Given the description of an element on the screen output the (x, y) to click on. 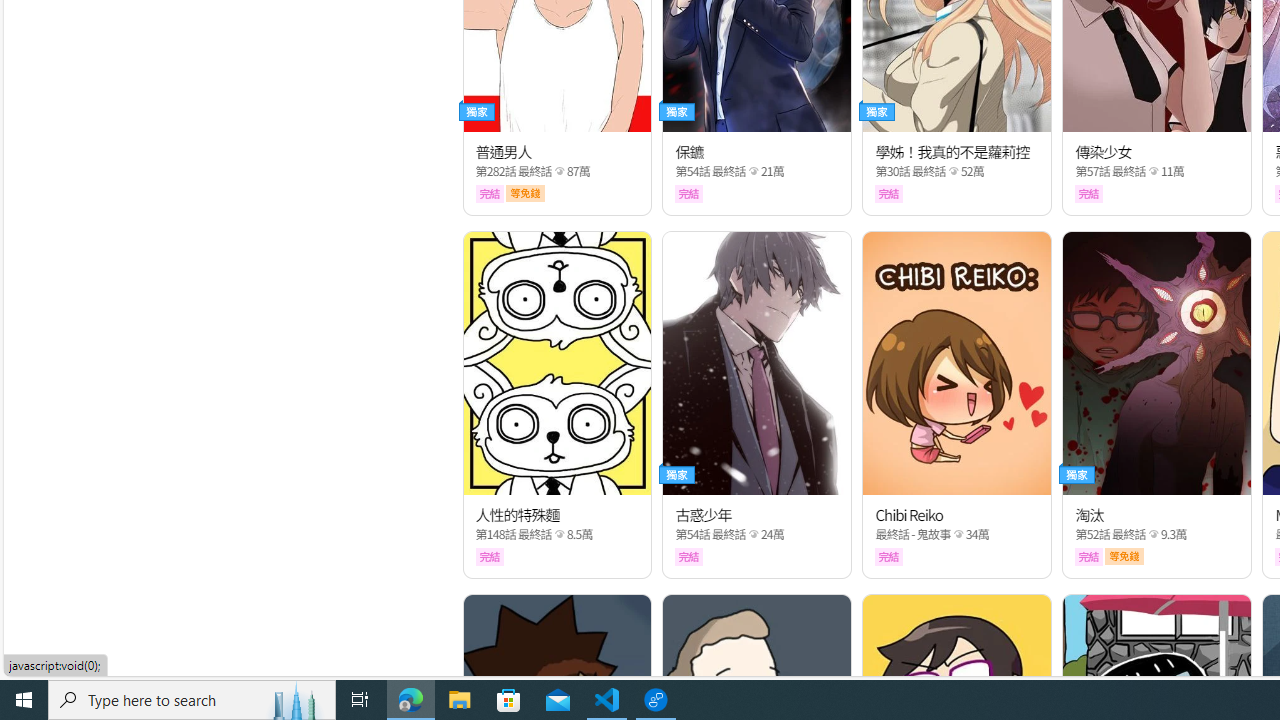
Class: thumb_img (1156, 363)
Class: epicon_starpoint (1153, 534)
